Given the description of an element on the screen output the (x, y) to click on. 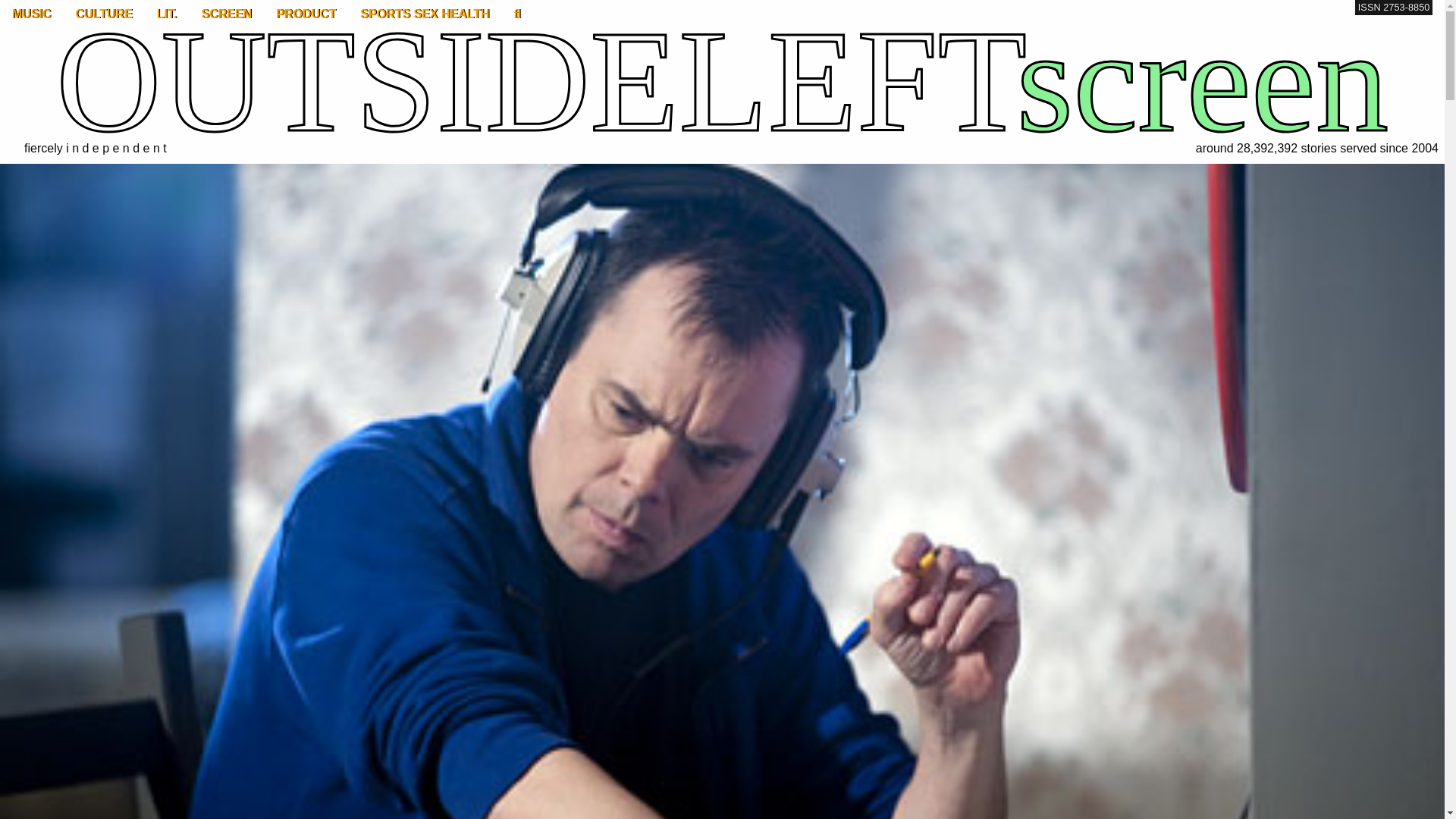
CULTURE (104, 14)
MUSIC (32, 14)
SPORTS SEX HEALTH (423, 14)
SCREEN (226, 14)
LIT. (166, 14)
PRODUCT (305, 14)
